Given the description of an element on the screen output the (x, y) to click on. 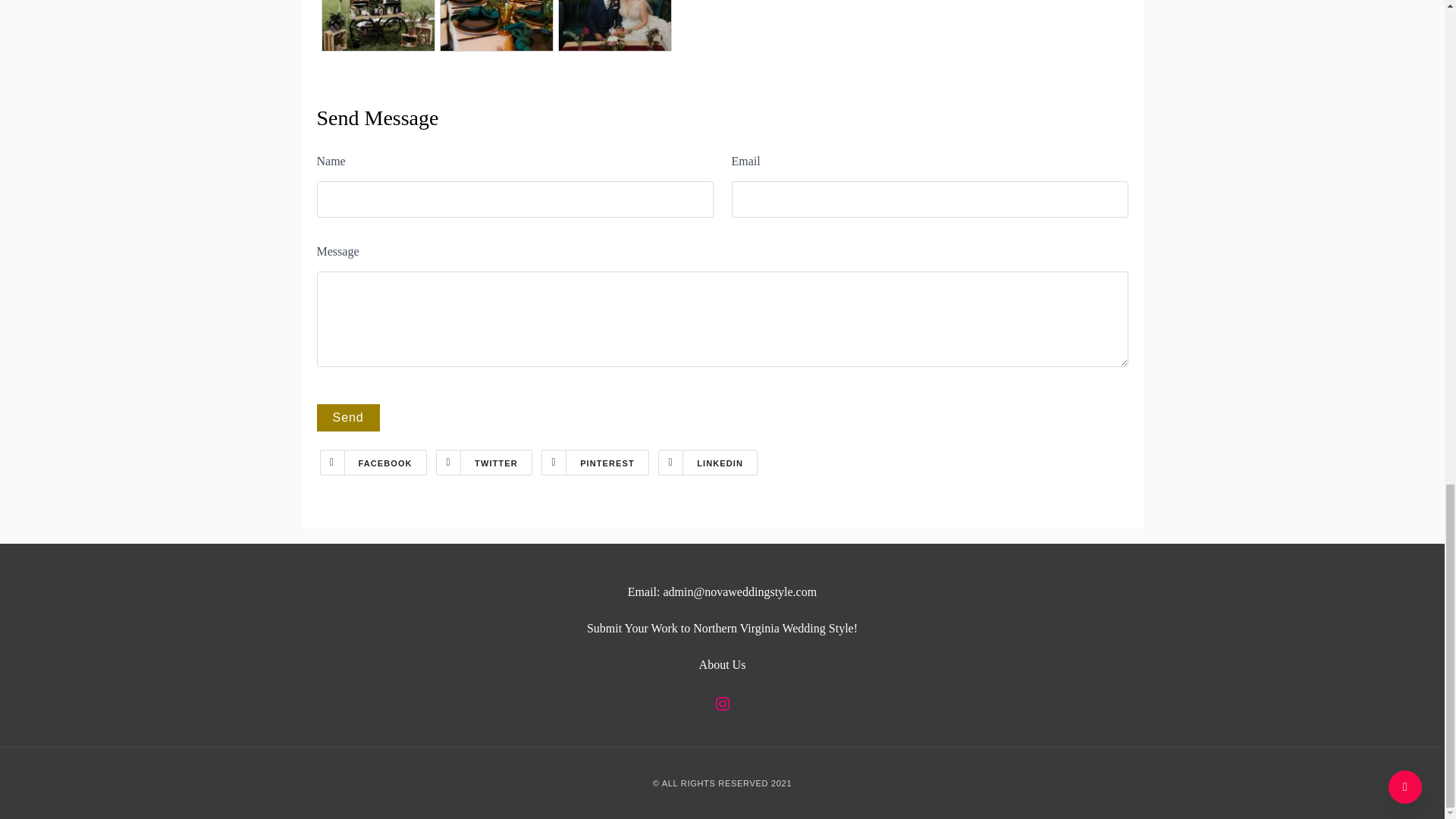
Send (348, 417)
LINKEDIN (707, 462)
Tablescape with P3 Event Co. rentals (496, 25)
PINTEREST (595, 462)
TWITTER (483, 462)
Better together (614, 25)
Send (348, 417)
Ancestors dedication (378, 25)
FACEBOOK (373, 462)
